Given the description of an element on the screen output the (x, y) to click on. 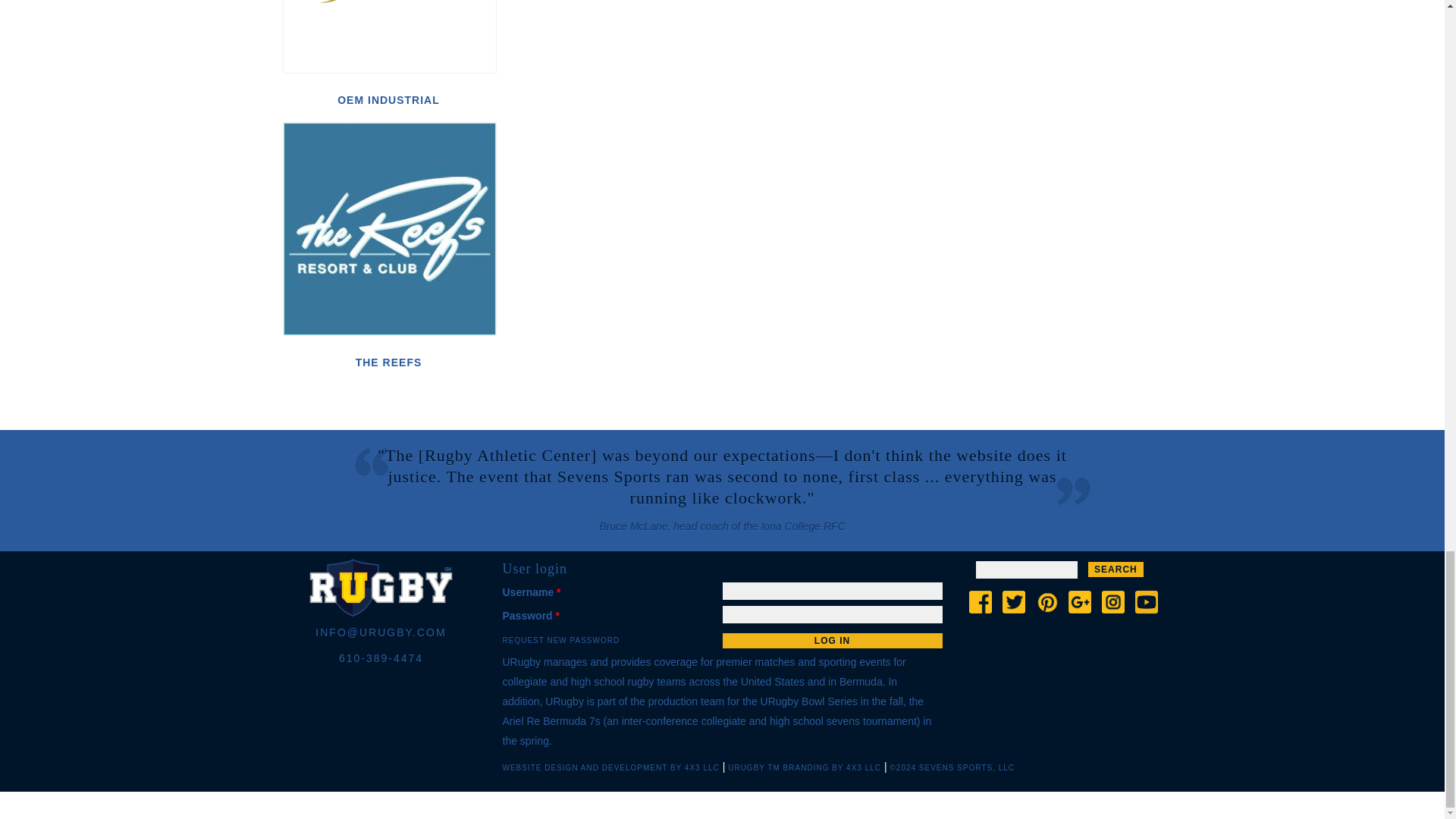
REQUEST NEW PASSWORD (561, 640)
The Reefs Bermuda (389, 228)
Log in (832, 640)
THE REEFS (388, 362)
OEM Industrial supports rugby (389, 36)
OEM INDUSTRIAL (388, 100)
Search (1114, 569)
Request new password via e-mail. (561, 640)
